Given the description of an element on the screen output the (x, y) to click on. 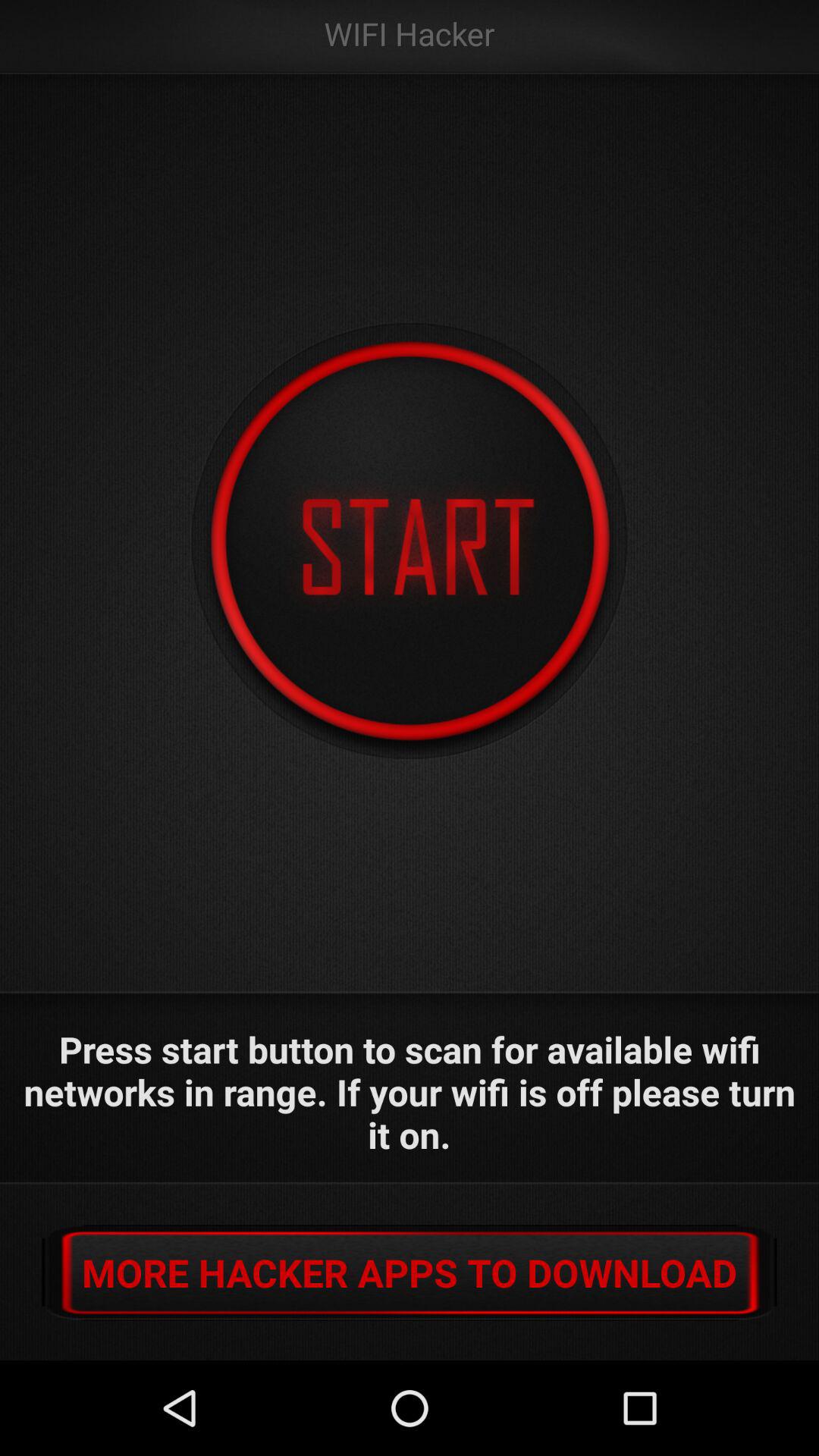
click the icon at the center (409, 541)
